Given the description of an element on the screen output the (x, y) to click on. 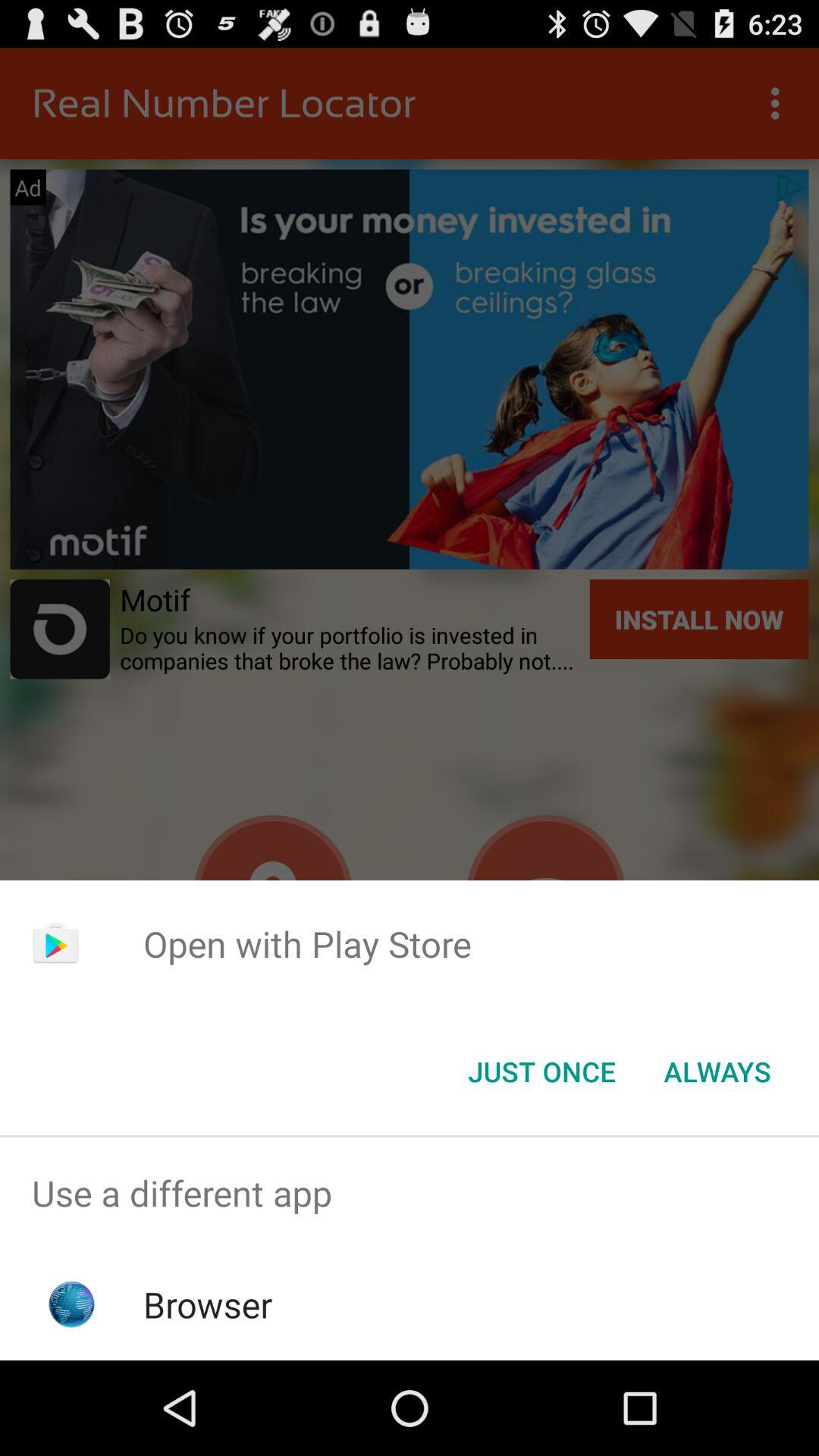
open the just once button (541, 1071)
